Given the description of an element on the screen output the (x, y) to click on. 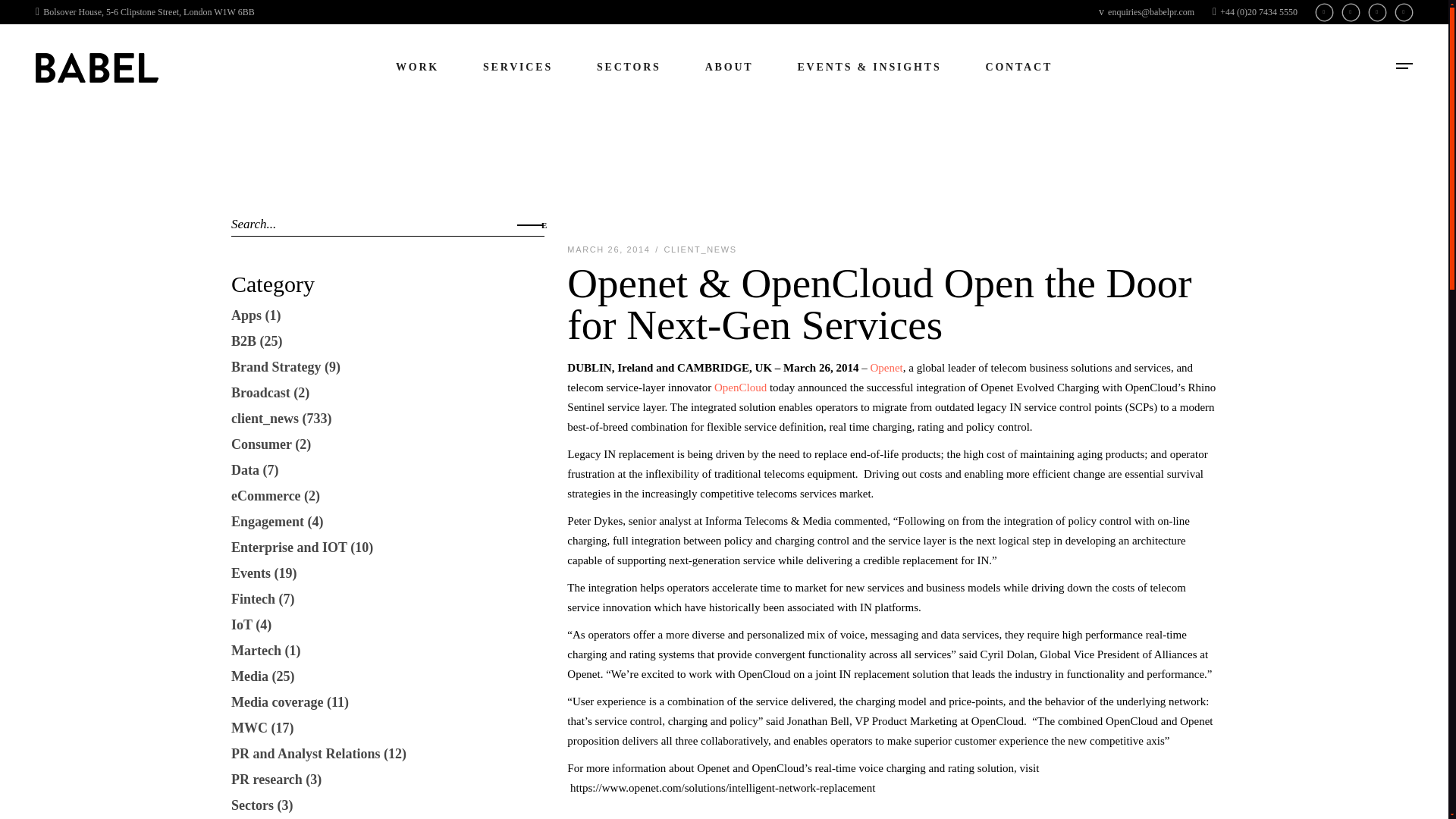
Bolsover House, 5-6 Clipstone Street, London W1W 6BB (144, 11)
